Given the description of an element on the screen output the (x, y) to click on. 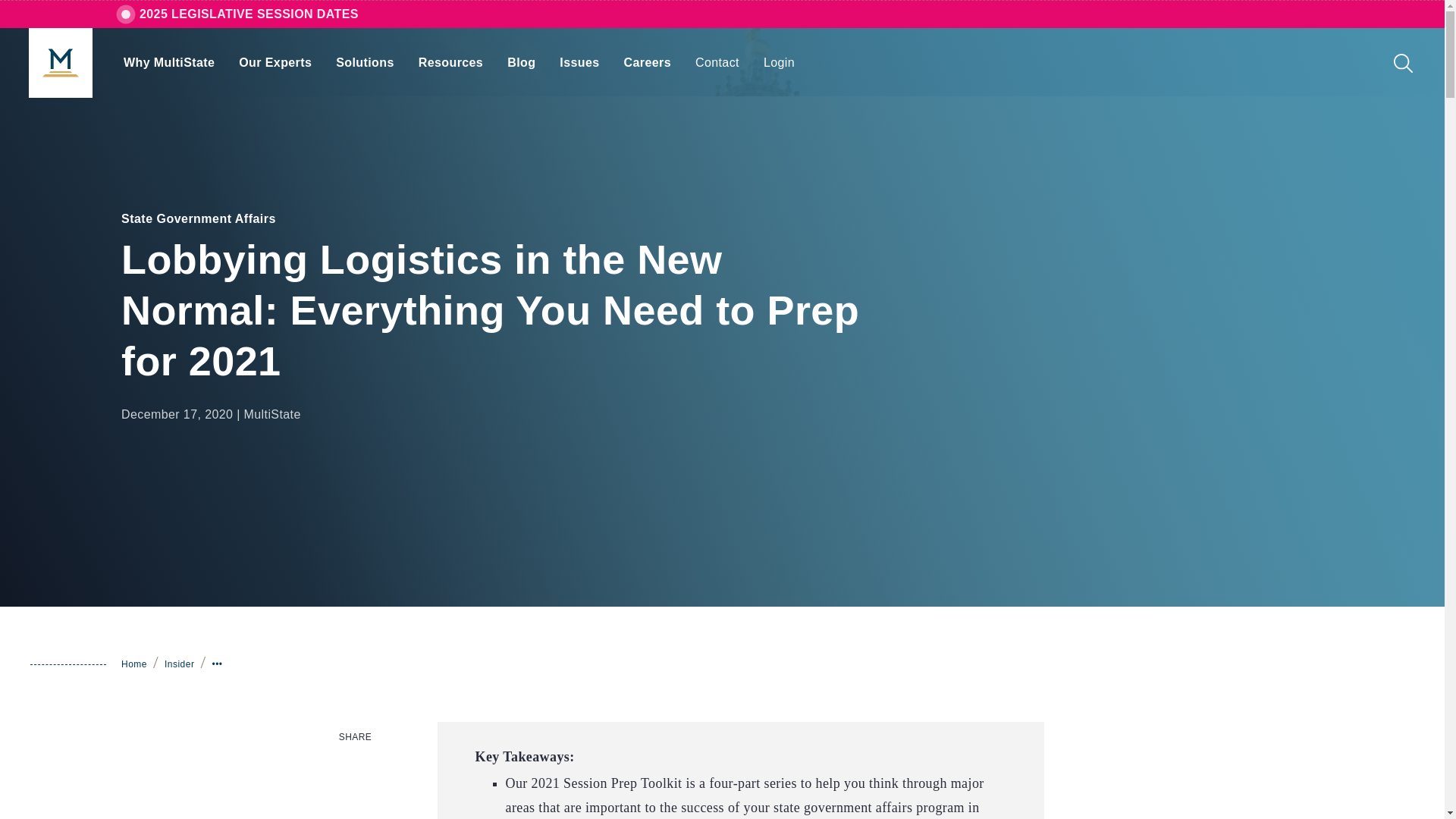
Issues (579, 63)
State Government Affairs (198, 218)
2025 LEGISLATIVE SESSION DATES (248, 13)
Resources (450, 63)
Solutions (364, 63)
Blog (521, 63)
Why MultiState (168, 63)
Our Experts (274, 63)
Careers (646, 63)
Contact (717, 63)
